Given the description of an element on the screen output the (x, y) to click on. 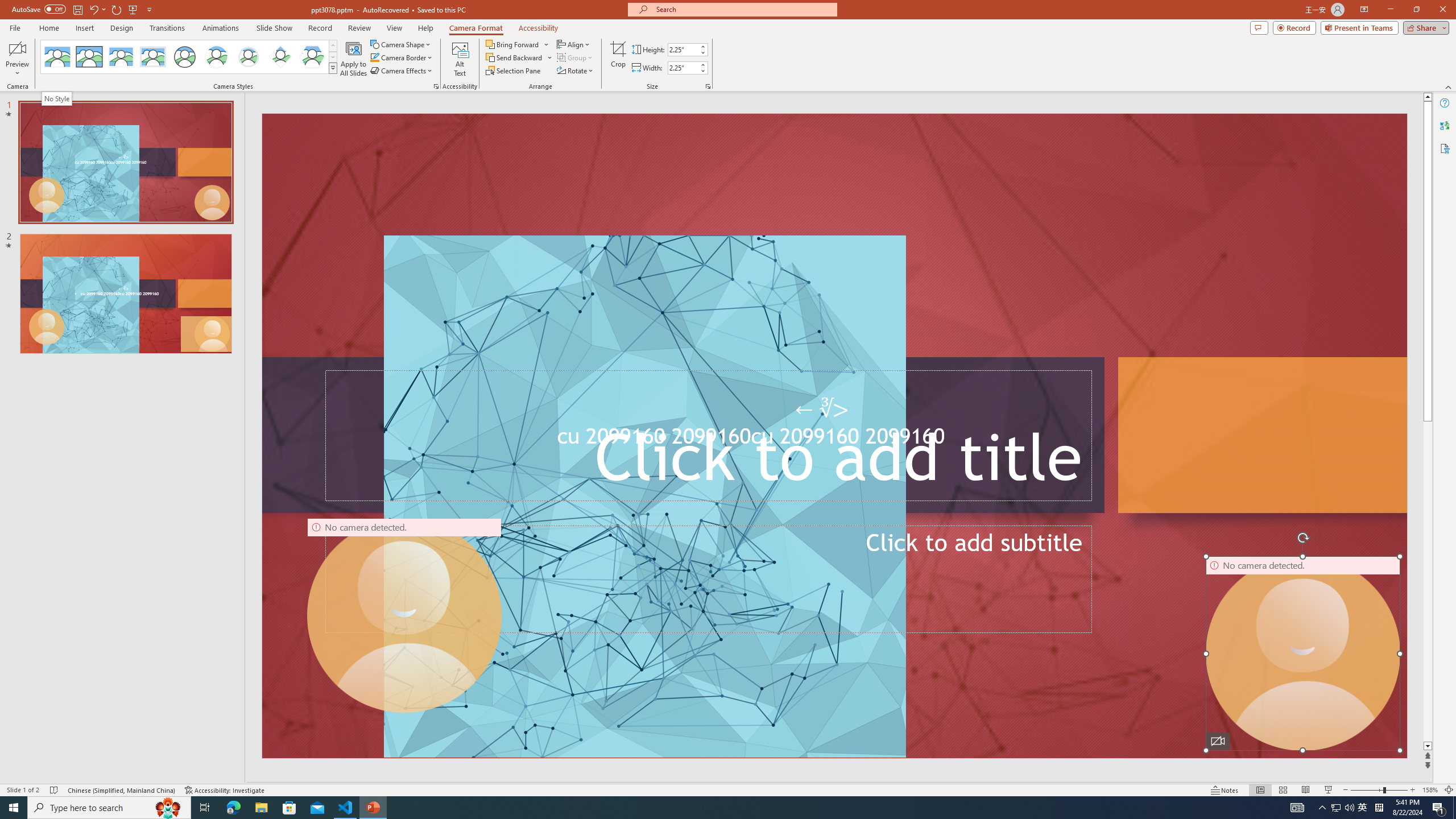
Cameo Height (682, 49)
Simple Frame Rectangle (88, 56)
Camera Shape (400, 44)
An abstract genetic concept (834, 435)
Bring Forward (517, 44)
AutomationID: CameoStylesGallery (189, 56)
